Given the description of an element on the screen output the (x, y) to click on. 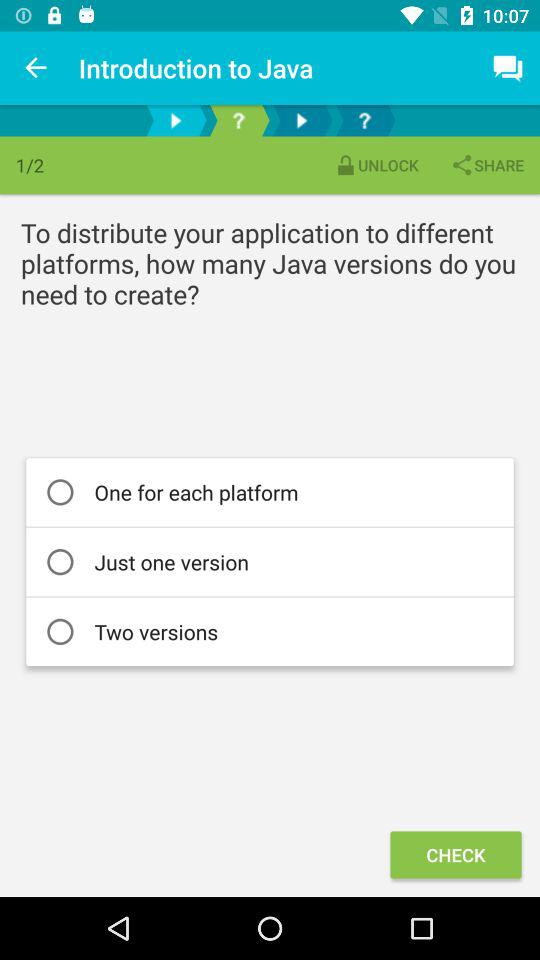
next (301, 120)
